Given the description of an element on the screen output the (x, y) to click on. 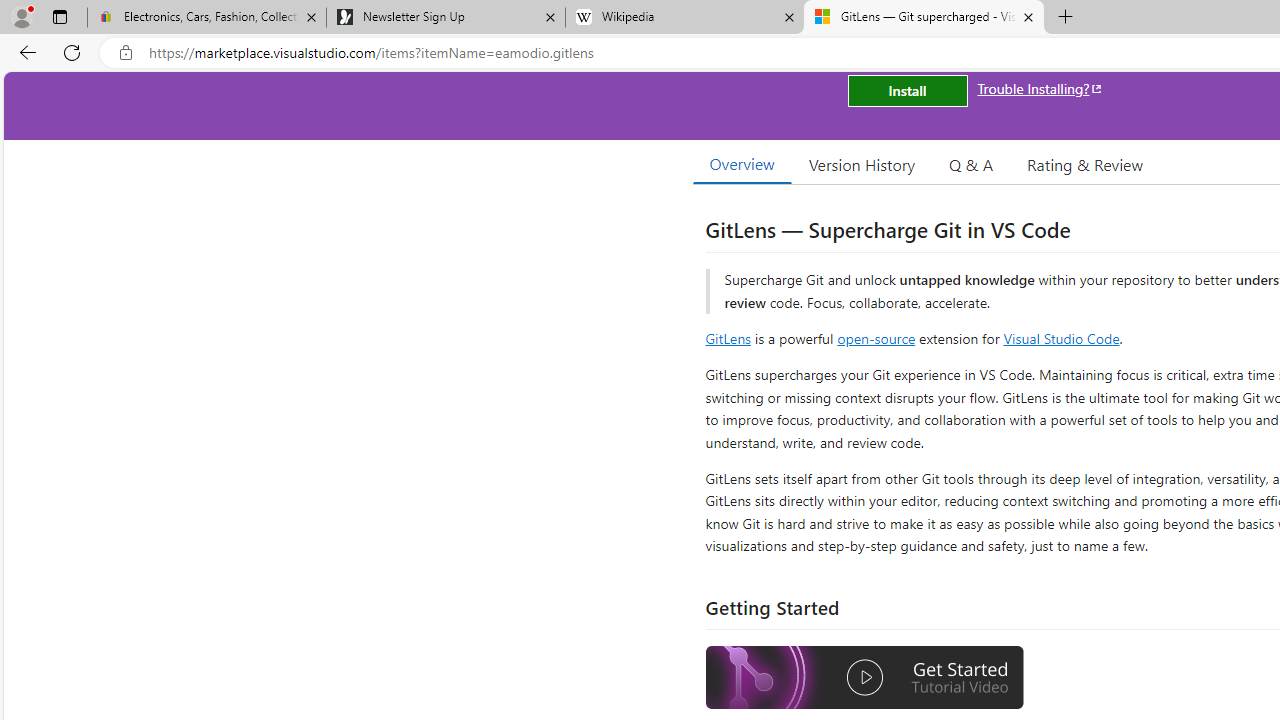
Install (907, 90)
Overview (742, 164)
Newsletter Sign Up (445, 17)
Q & A (971, 164)
Rating & Review (1084, 164)
GitLens (728, 337)
open-source (876, 337)
Visual Studio Code (1061, 337)
